Given the description of an element on the screen output the (x, y) to click on. 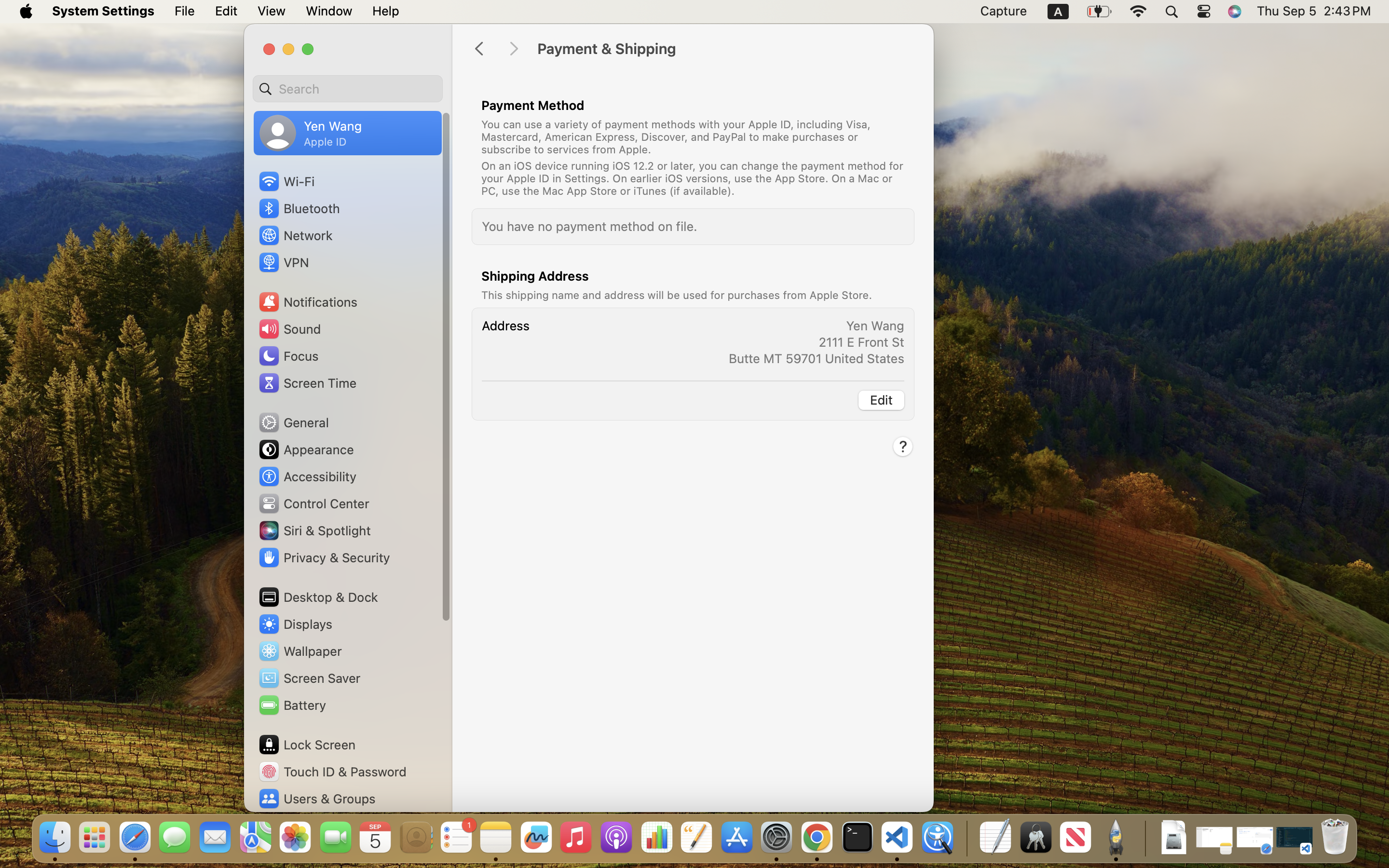
Butte MT 59701 United States Element type: AXStaticText (816, 358)
2111 E Front St Element type: AXStaticText (860, 341)
Screen Time Element type: AXStaticText (306, 382)
Lock Screen Element type: AXStaticText (306, 744)
Users & Groups Element type: AXStaticText (316, 798)
